Given the description of an element on the screen output the (x, y) to click on. 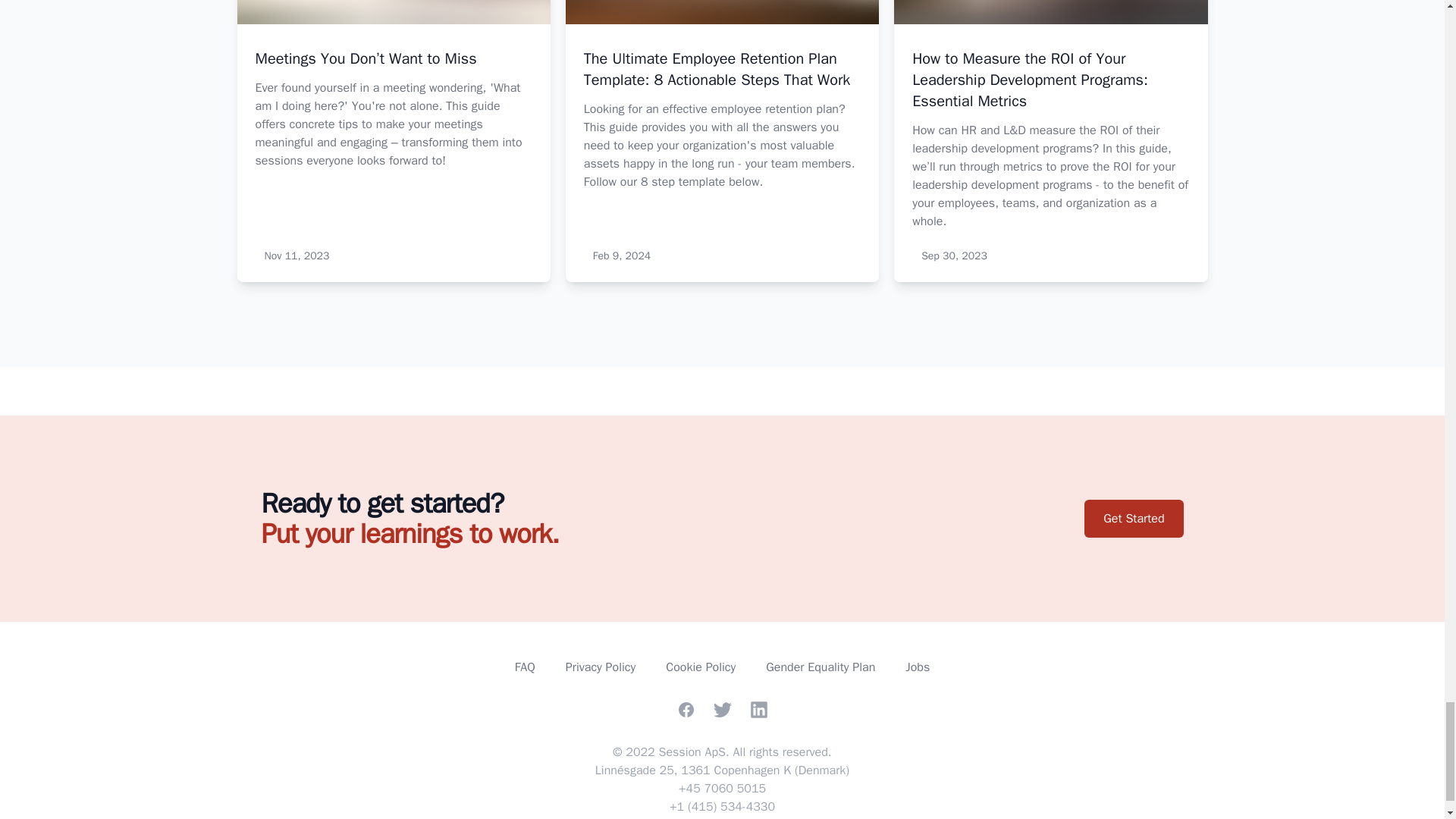
FAQ (525, 667)
Cookie Policy (700, 667)
Get Started (1133, 518)
Jobs (917, 667)
Gender Equality Plan (820, 667)
Privacy Policy (600, 667)
